Given the description of an element on the screen output the (x, y) to click on. 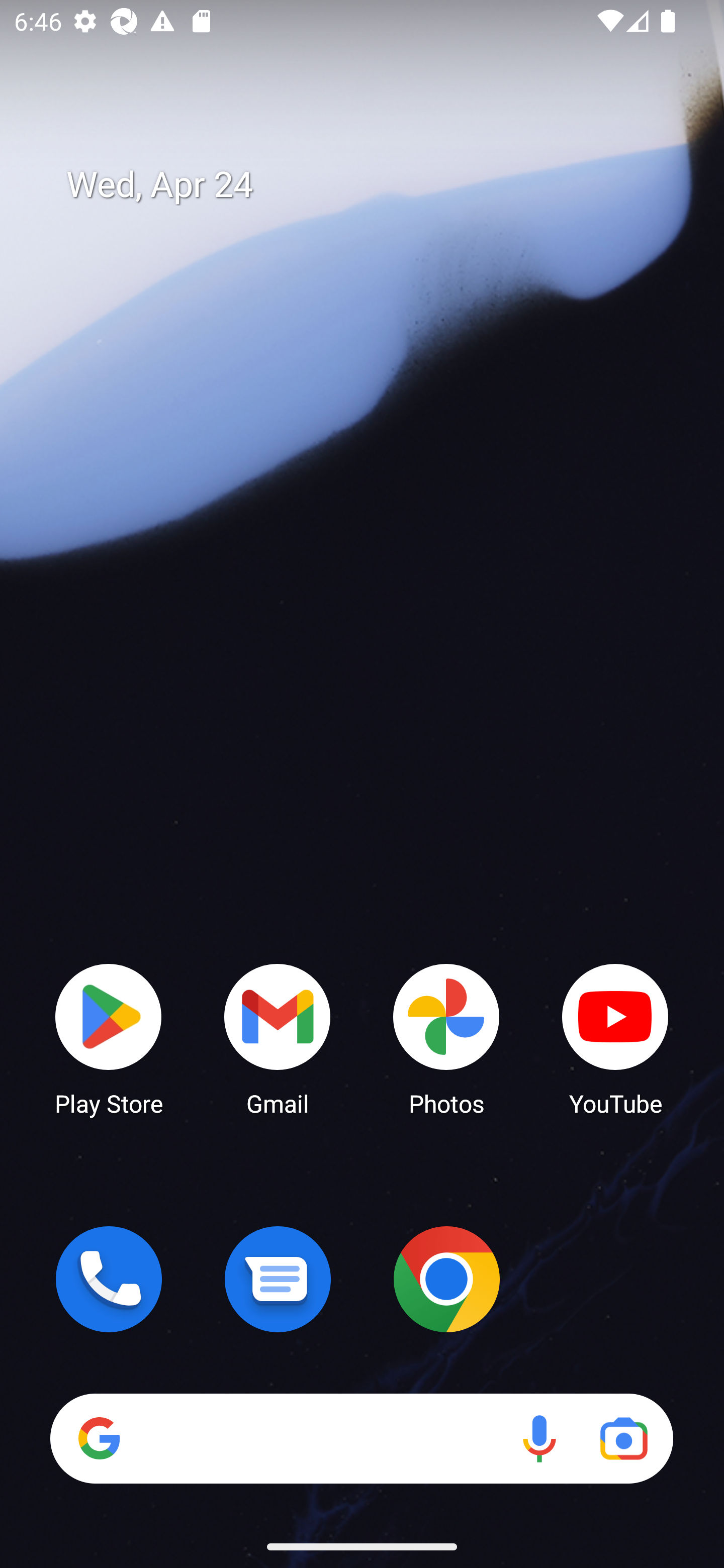
Wed, Apr 24 (375, 184)
Play Store (108, 1038)
Gmail (277, 1038)
Photos (445, 1038)
YouTube (615, 1038)
Phone (108, 1279)
Messages (277, 1279)
Chrome (446, 1279)
Search Voice search Google Lens (361, 1438)
Voice search (539, 1438)
Google Lens (623, 1438)
